Given the description of an element on the screen output the (x, y) to click on. 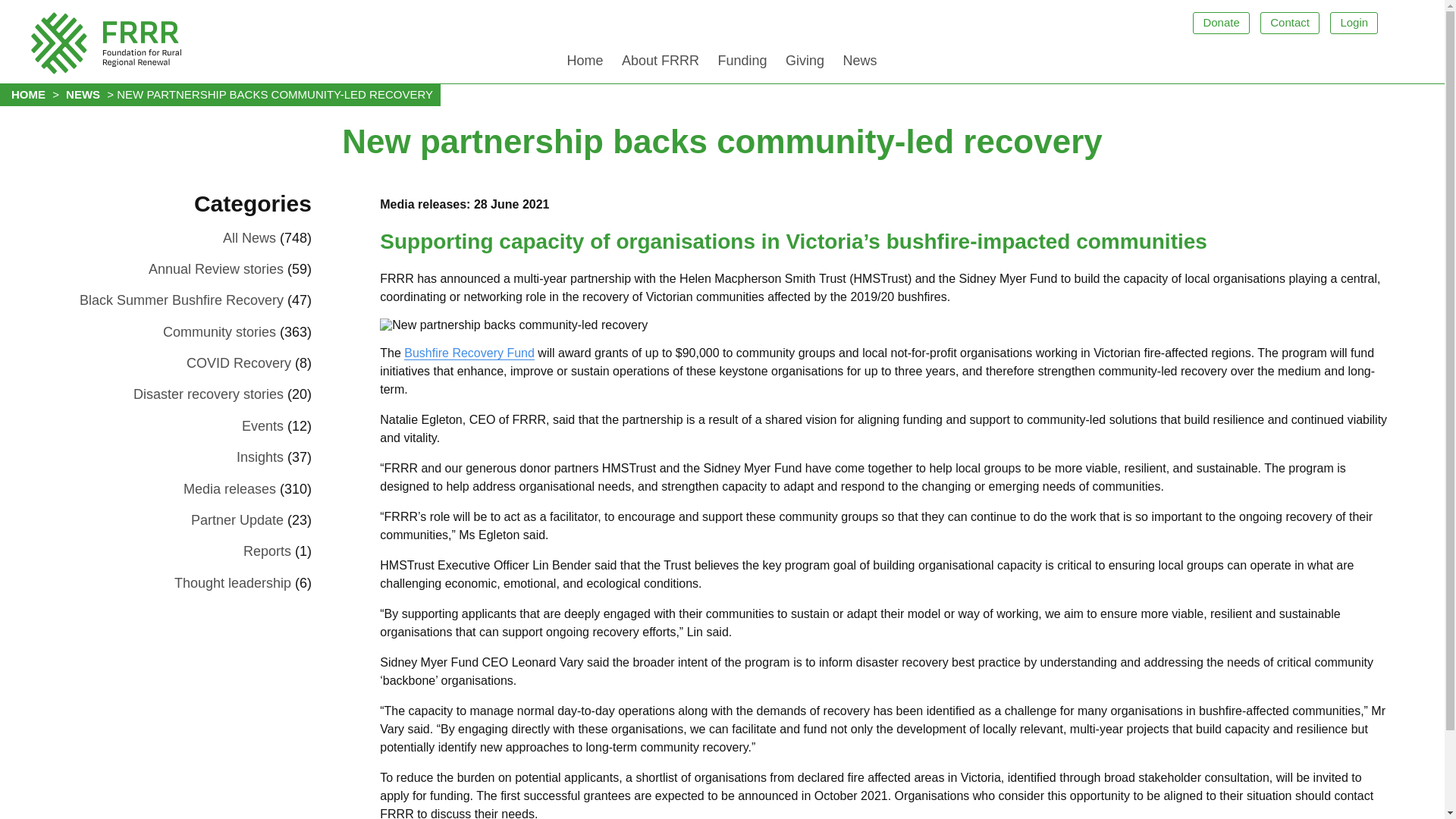
Login (1353, 23)
About FRRR (660, 64)
Home (584, 64)
News (858, 64)
Funding (742, 64)
Giving (804, 64)
Donate (1220, 23)
Contact (1289, 23)
